Given the description of an element on the screen output the (x, y) to click on. 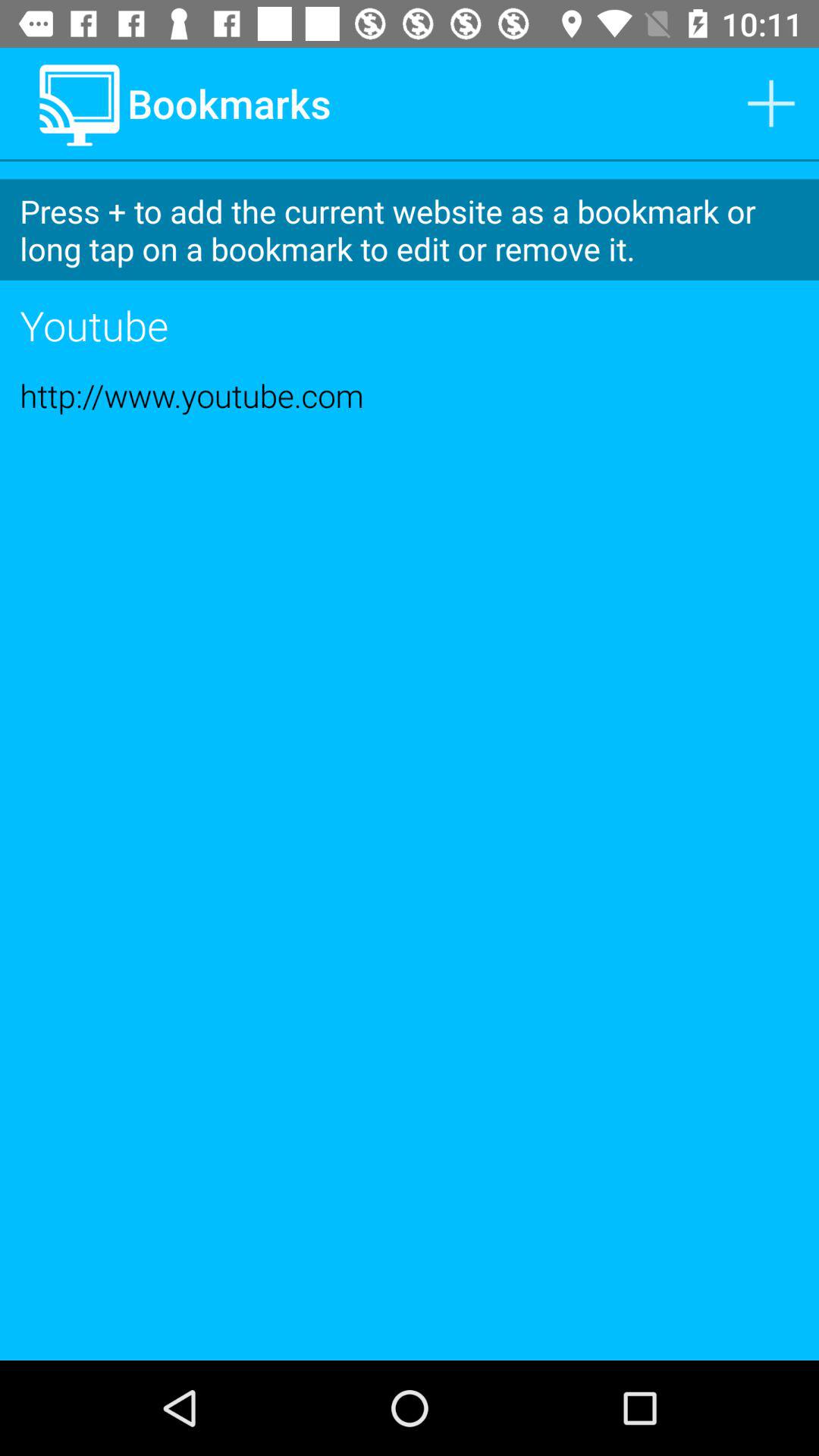
swipe until http www youtube item (409, 395)
